Given the description of an element on the screen output the (x, y) to click on. 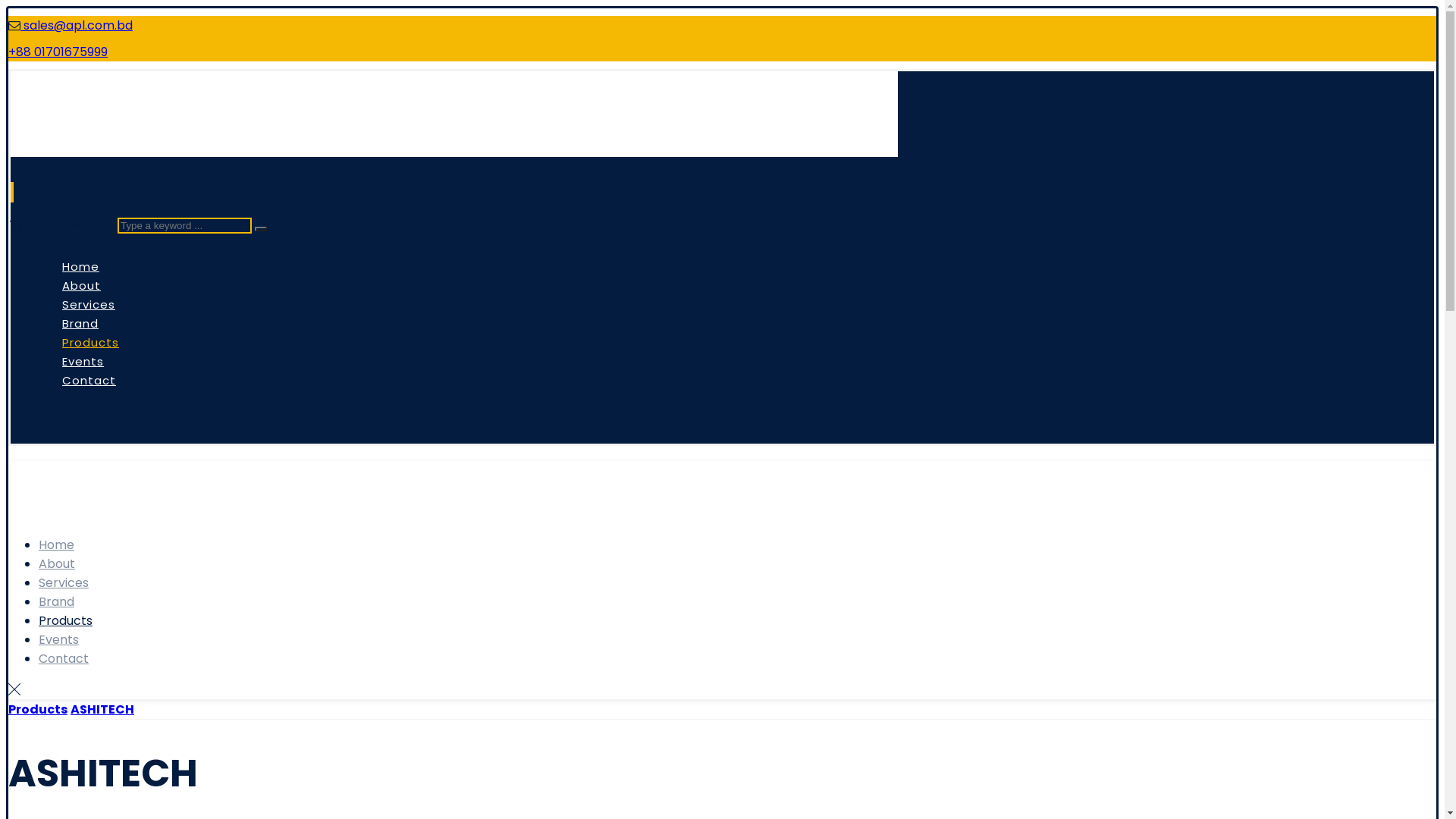
Brand Element type: text (56, 601)
Services Element type: text (63, 582)
Products Element type: text (37, 709)
sales@apl.com.bd Element type: text (76, 25)
Services Element type: text (88, 304)
ASHITECH Element type: text (102, 709)
Products Element type: text (65, 620)
+88 01701675999 Element type: text (57, 51)
Contact Element type: text (89, 380)
Empowering Bangladesh Element type: hover (89, 147)
Products Element type: text (90, 342)
Contact Element type: text (63, 658)
Home Element type: text (56, 544)
Home Element type: text (80, 266)
Events Element type: text (58, 639)
About Element type: text (81, 285)
Brand Element type: text (80, 323)
Empowering Bangladesh Element type: hover (61, 510)
About Element type: text (56, 563)
Events Element type: text (82, 361)
